Given the description of an element on the screen output the (x, y) to click on. 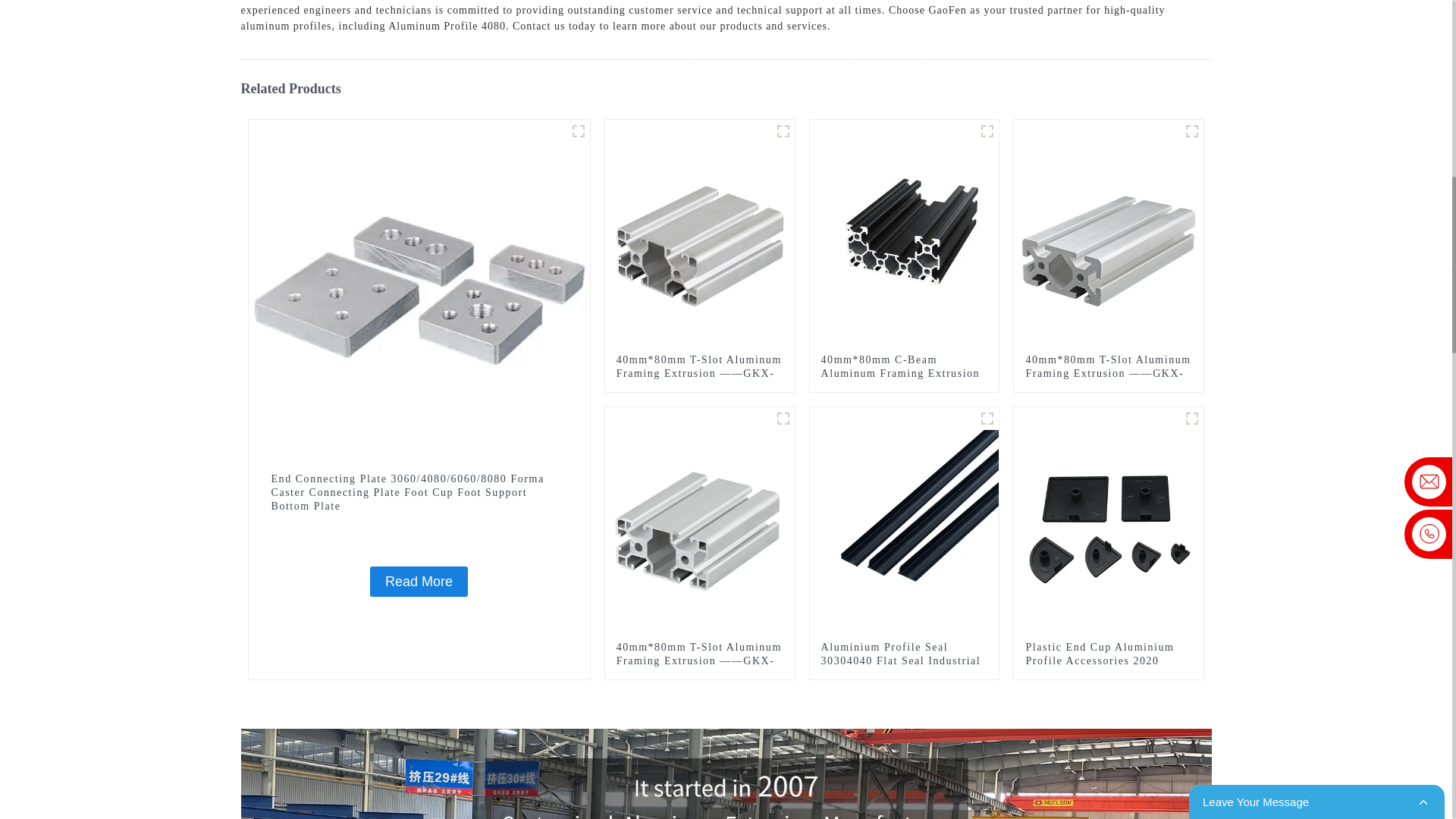
chanping28 (782, 418)
chanping112 (986, 130)
chanping210 (782, 130)
chanping212 (1192, 130)
31 (578, 130)
